Given the description of an element on the screen output the (x, y) to click on. 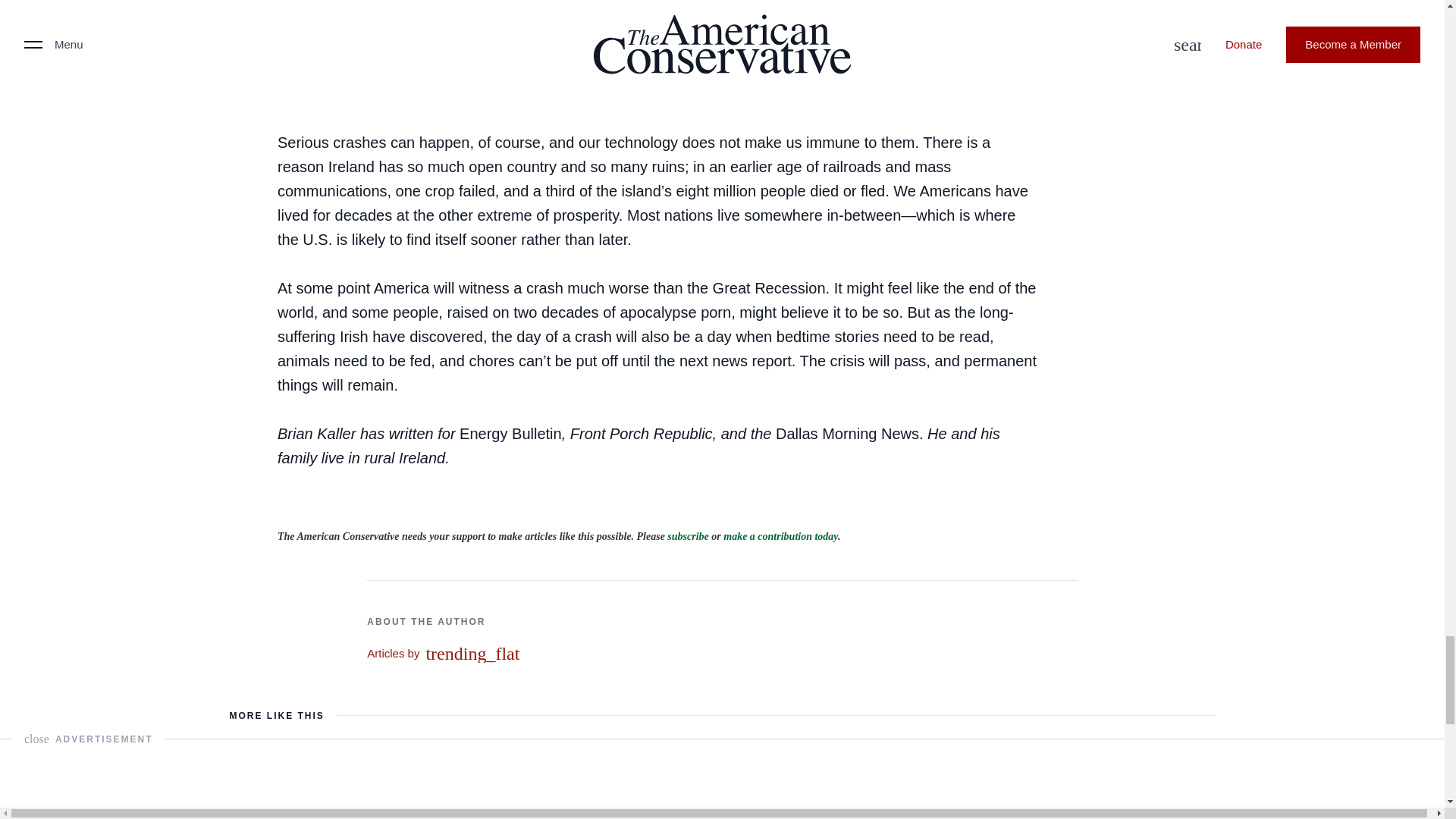
make a contribution today (780, 536)
subscribe (686, 536)
